Given the description of an element on the screen output the (x, y) to click on. 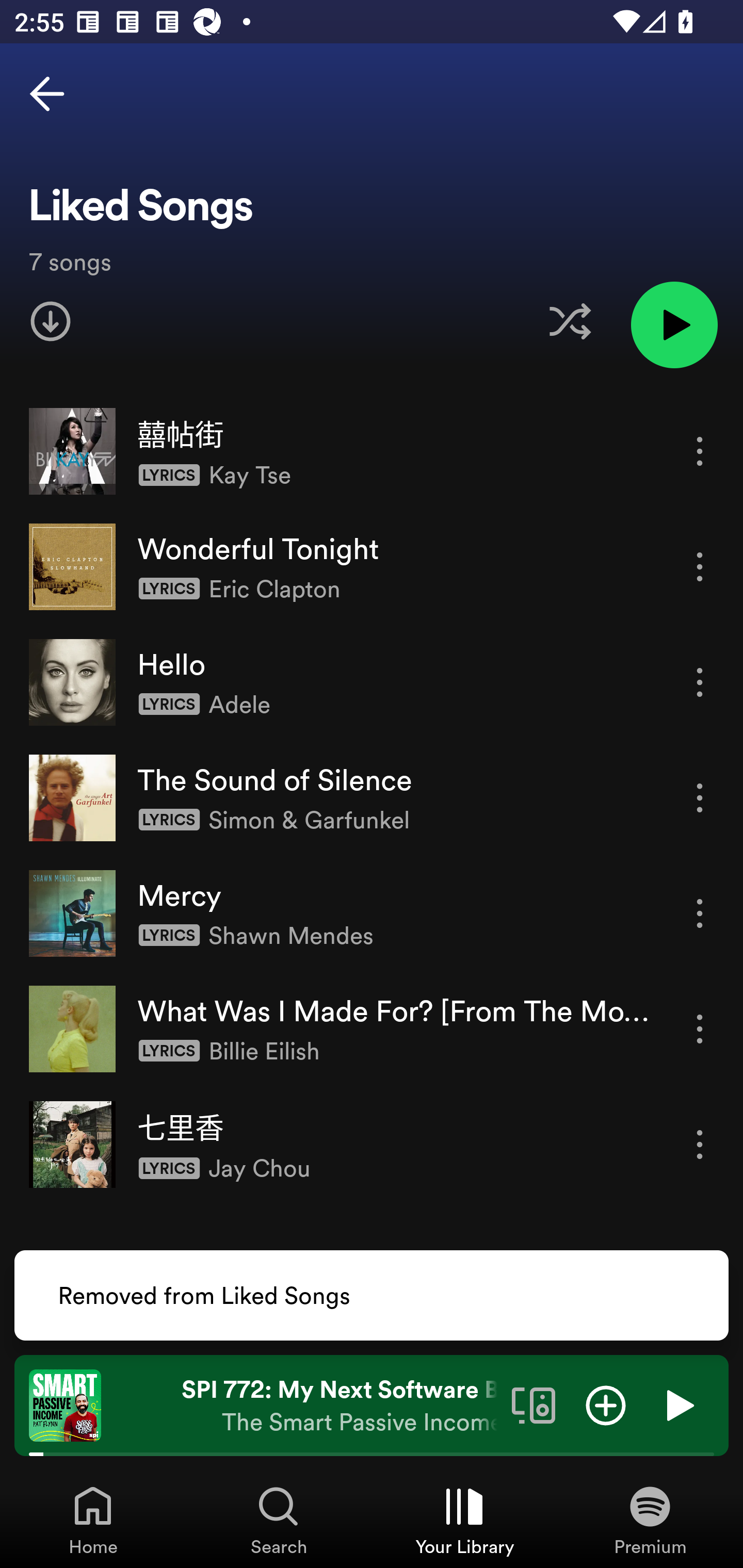
Back (46, 93)
Download (50, 321)
Enable shuffle for this liked songs (569, 321)
Play liked songs (674, 324)
囍帖街 More options for song 囍帖街 Lyrics Kay Tse (371, 451)
More options for song 囍帖街 (699, 450)
More options for song Wonderful Tonight (699, 566)
Hello More options for song Hello Lyrics Adele (371, 682)
More options for song Hello (699, 682)
More options for song The Sound of Silence (699, 798)
More options for song Mercy (699, 913)
七里香 More options for song 七里香 Lyrics Jay Chou (371, 1144)
More options for song 七里香 (699, 1144)
The cover art of the currently playing track (64, 1404)
Connect to a device. Opens the devices menu (533, 1404)
Add item (605, 1404)
Play (677, 1404)
Home, Tab 1 of 4 Home Home (92, 1519)
Search, Tab 2 of 4 Search Search (278, 1519)
Your Library, Tab 3 of 4 Your Library Your Library (464, 1519)
Premium, Tab 4 of 4 Premium Premium (650, 1519)
